Given the description of an element on the screen output the (x, y) to click on. 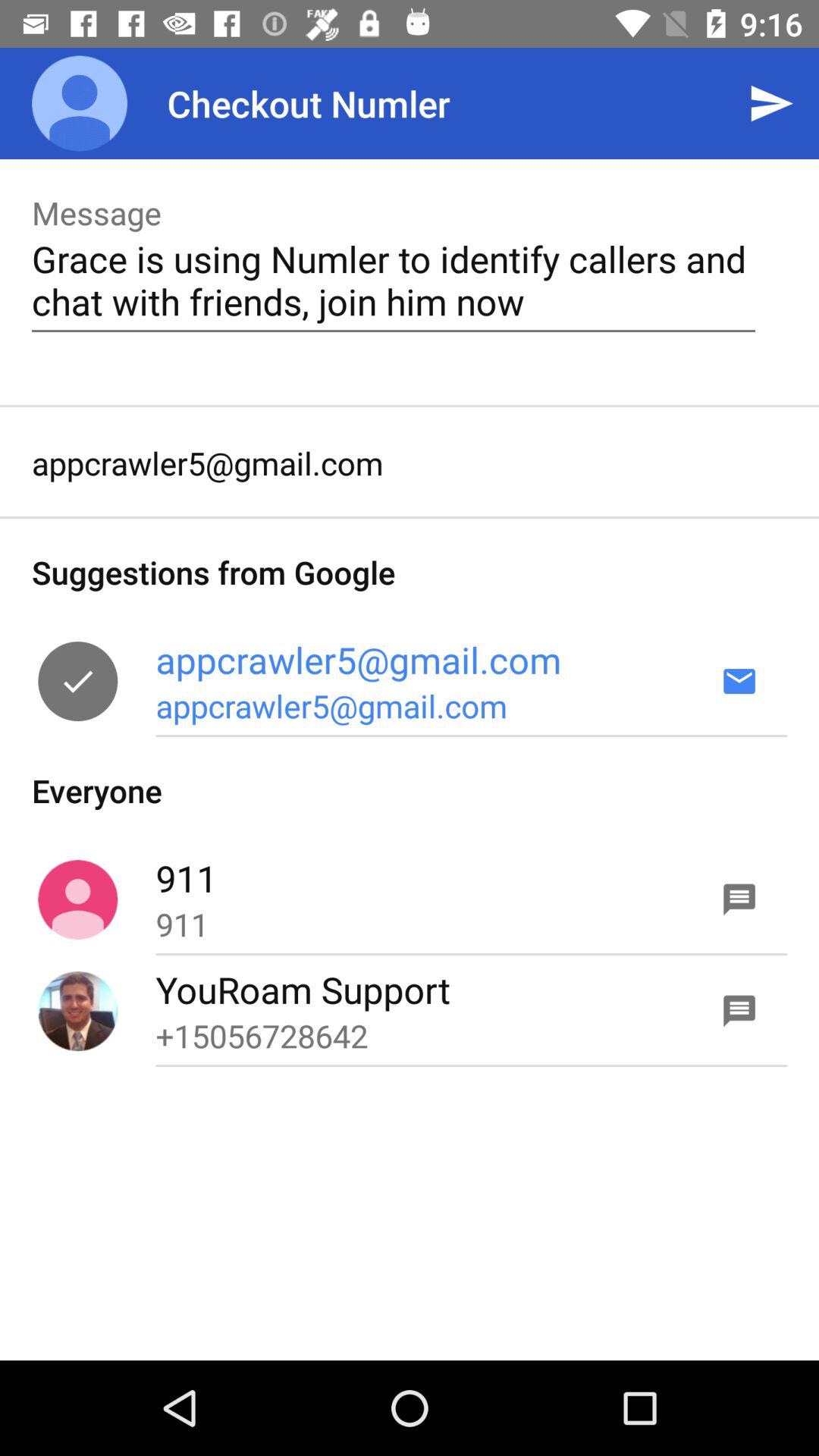
tap icon above message (79, 103)
